Given the description of an element on the screen output the (x, y) to click on. 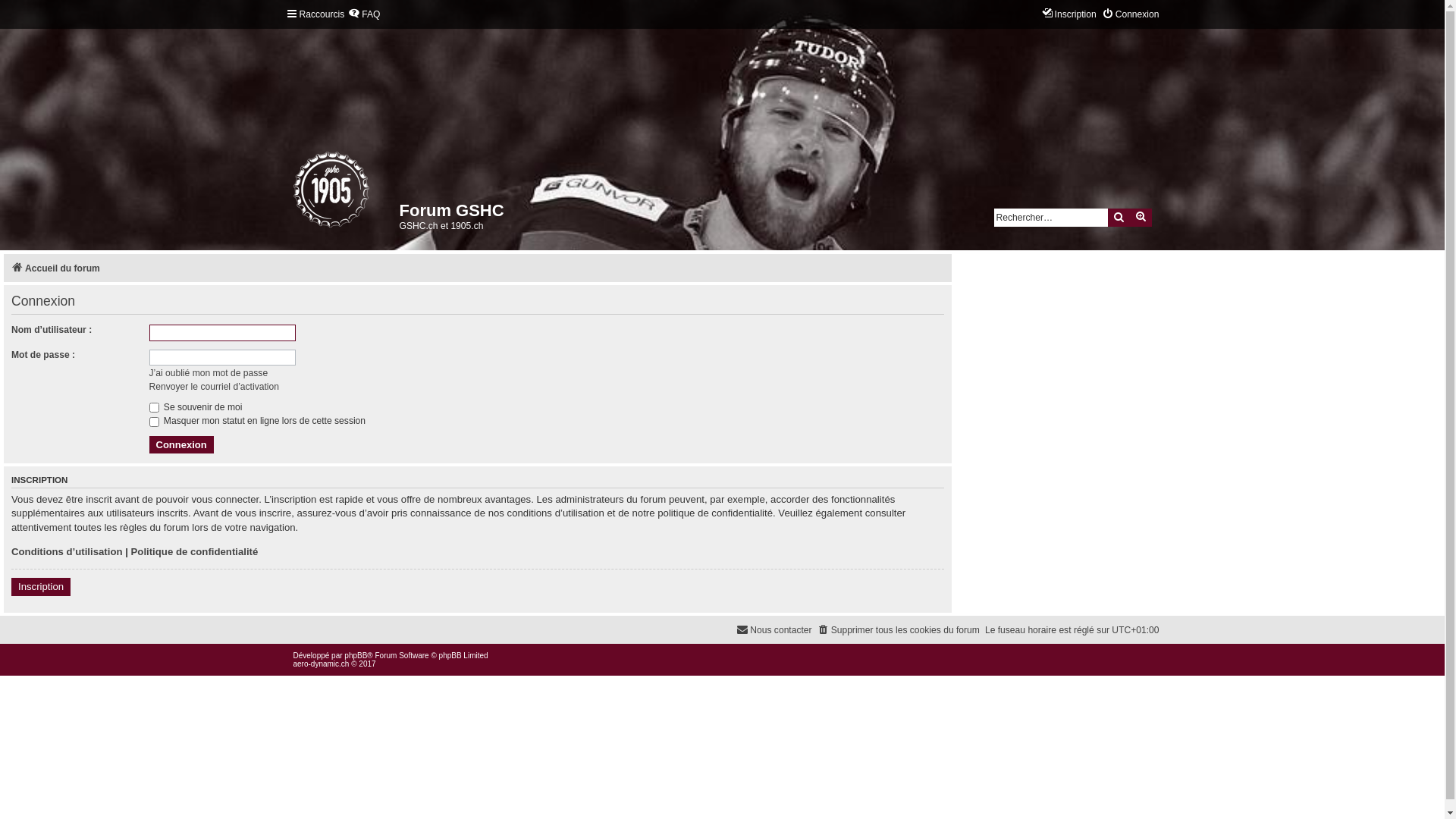
Accueil du forum Element type: hover (293, 193)
aero-dynamic.ch Element type: text (320, 663)
Supprimer tous les cookies du forum Element type: text (898, 630)
Accueil du forum Element type: text (55, 268)
Inscription Element type: text (40, 586)
Connexion Element type: text (180, 445)
phpBB Element type: text (355, 655)
Rechercher Element type: text (1118, 217)
Inscription Element type: text (1068, 14)
Raccourcis Element type: text (314, 14)
FAQ Element type: text (363, 14)
Connexion Element type: text (1130, 14)
Nous contacter Element type: text (773, 630)
